Given the description of an element on the screen output the (x, y) to click on. 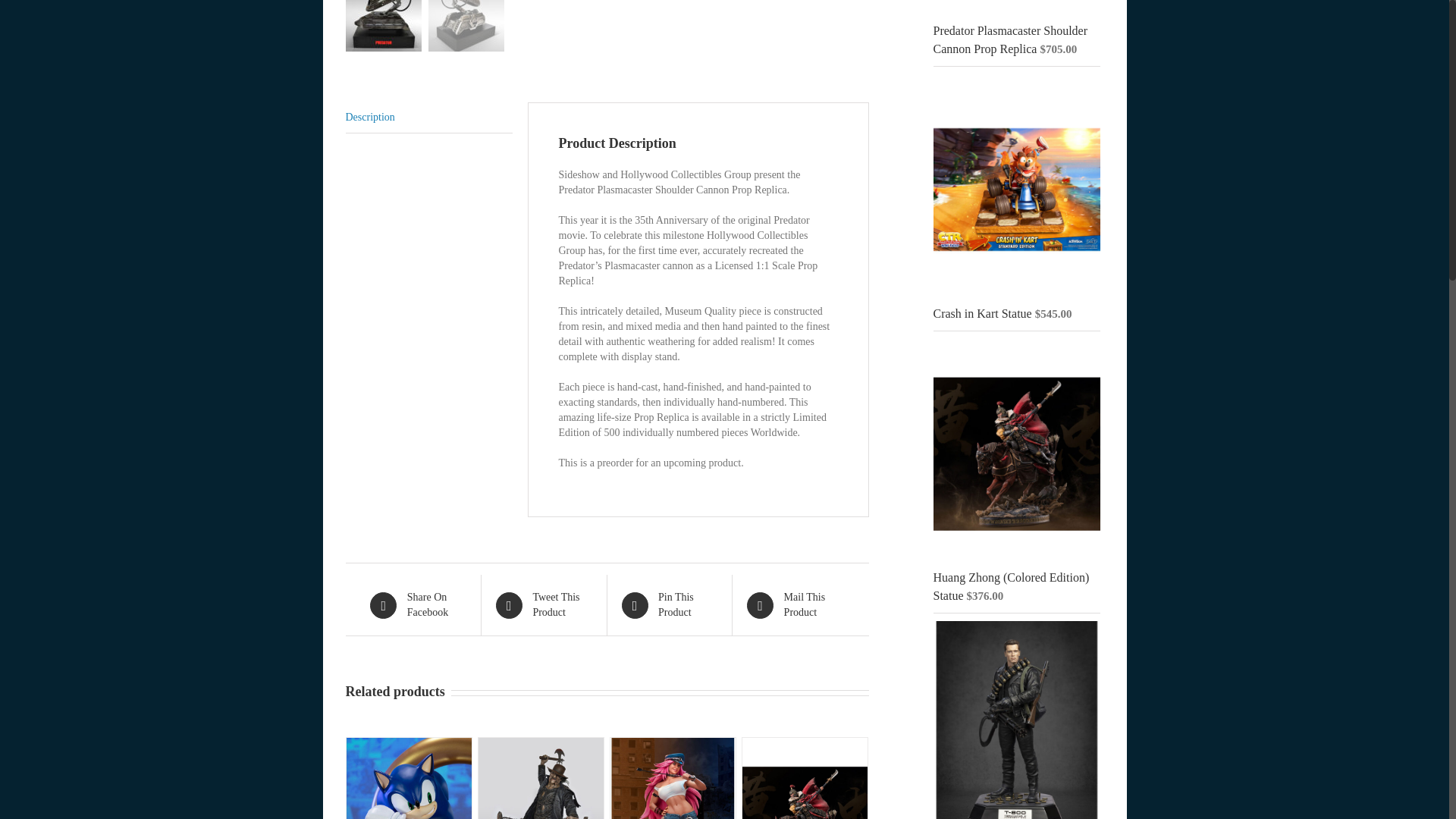
predator1 (384, 25)
